Given the description of an element on the screen output the (x, y) to click on. 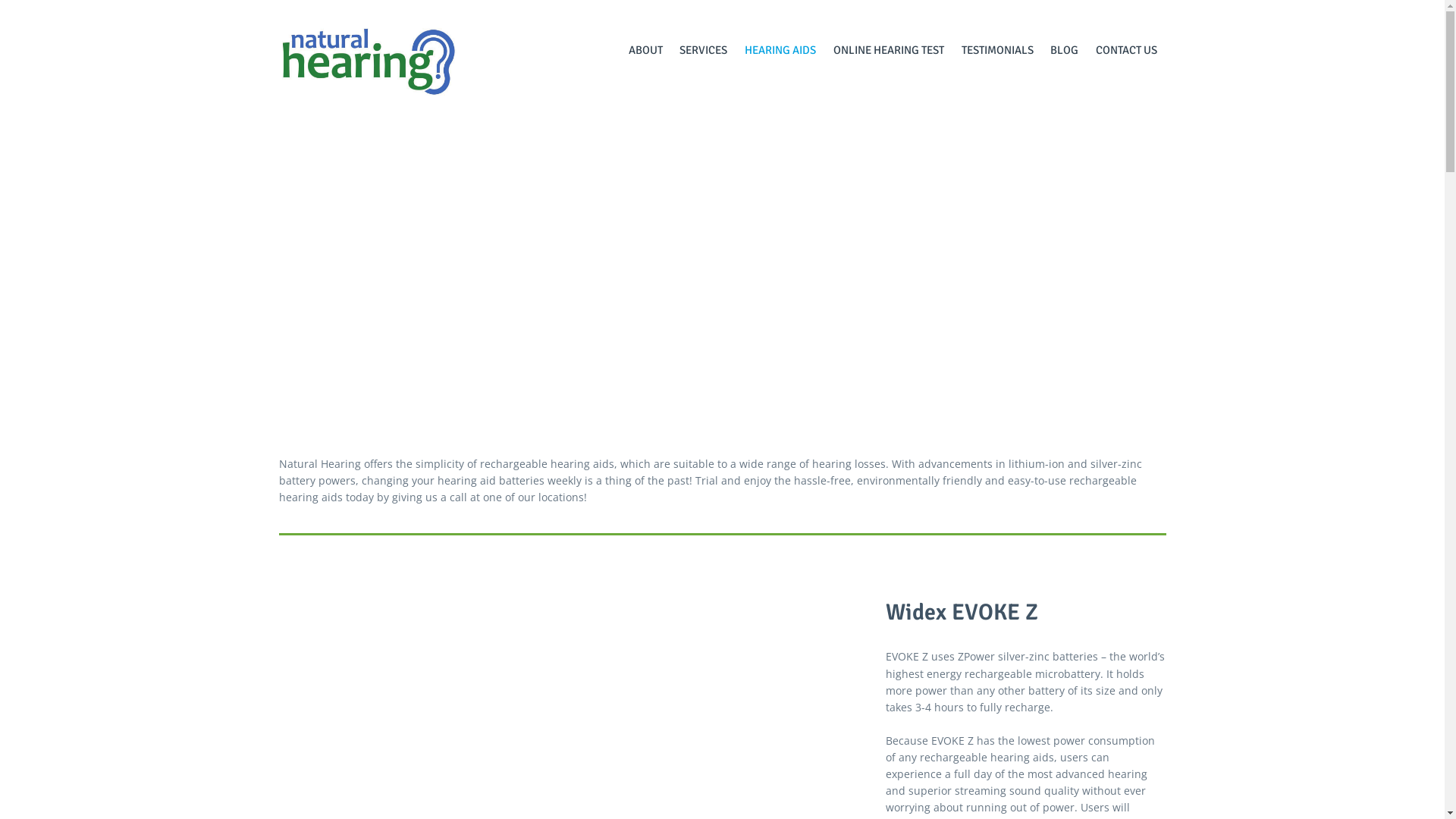
BLOG Element type: text (1064, 50)
TESTIMONIALS Element type: text (996, 50)
ONLINE HEARING TEST Element type: text (889, 50)
SERVICES Element type: text (703, 50)
CONTACT US Element type: text (1126, 50)
HEARING AIDS Element type: text (780, 50)
ABOUT Element type: text (645, 50)
